Given the description of an element on the screen output the (x, y) to click on. 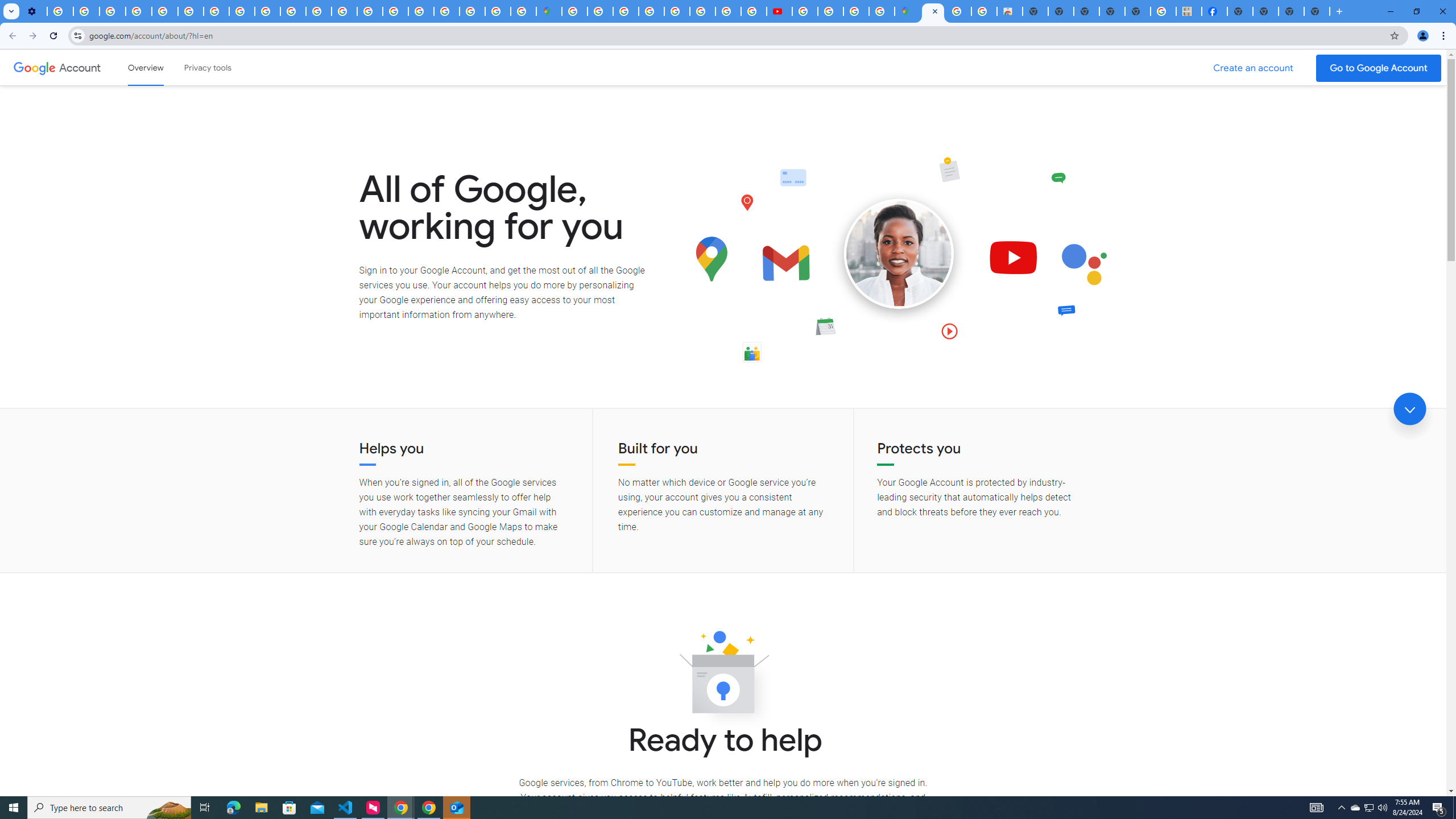
MILEY CYRUS. (1188, 11)
Go to your Google Account (1378, 67)
